Given the description of an element on the screen output the (x, y) to click on. 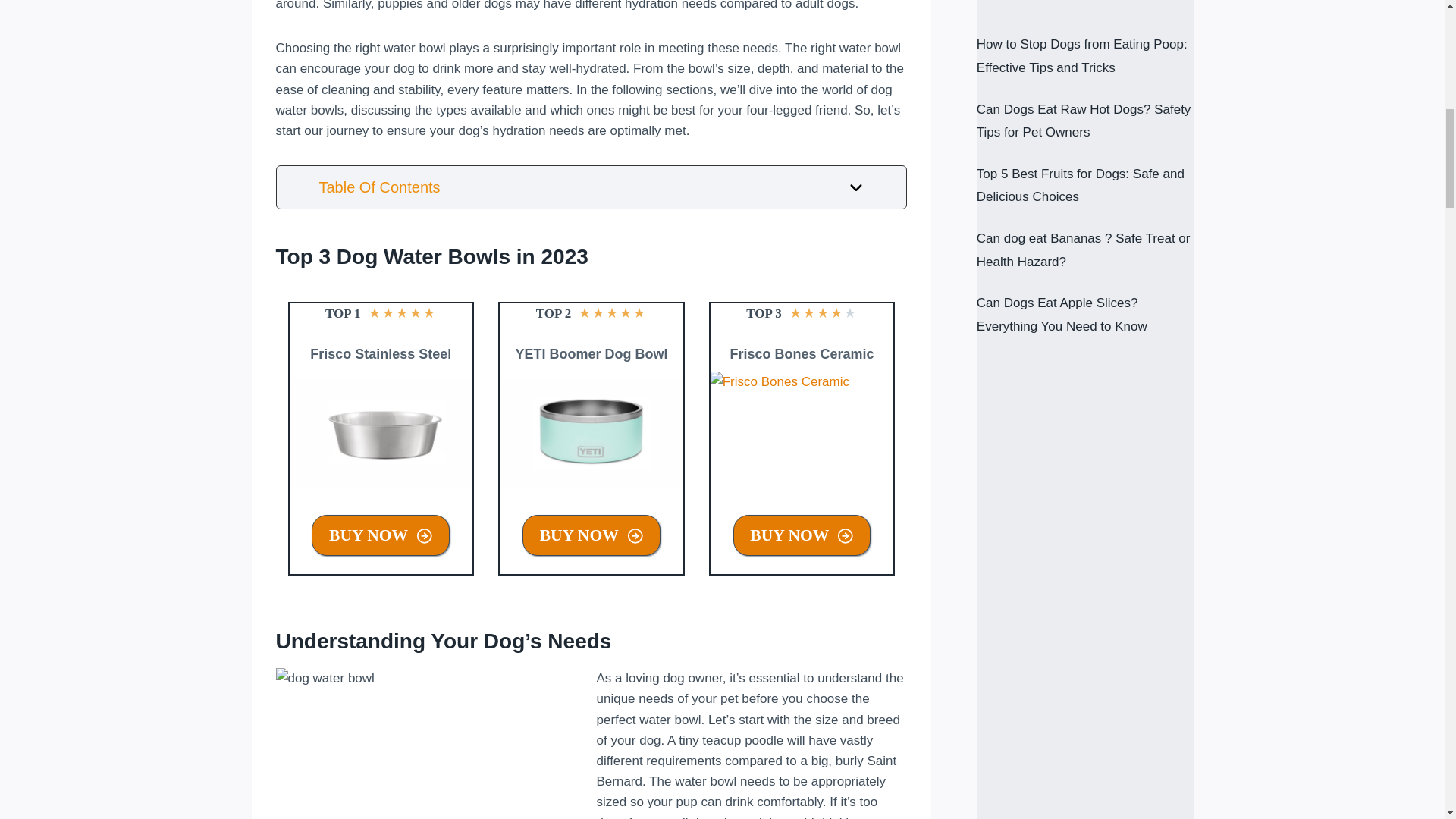
BUY NOW (380, 535)
BUY NOW (591, 535)
BUY NOW (801, 535)
